Given the description of an element on the screen output the (x, y) to click on. 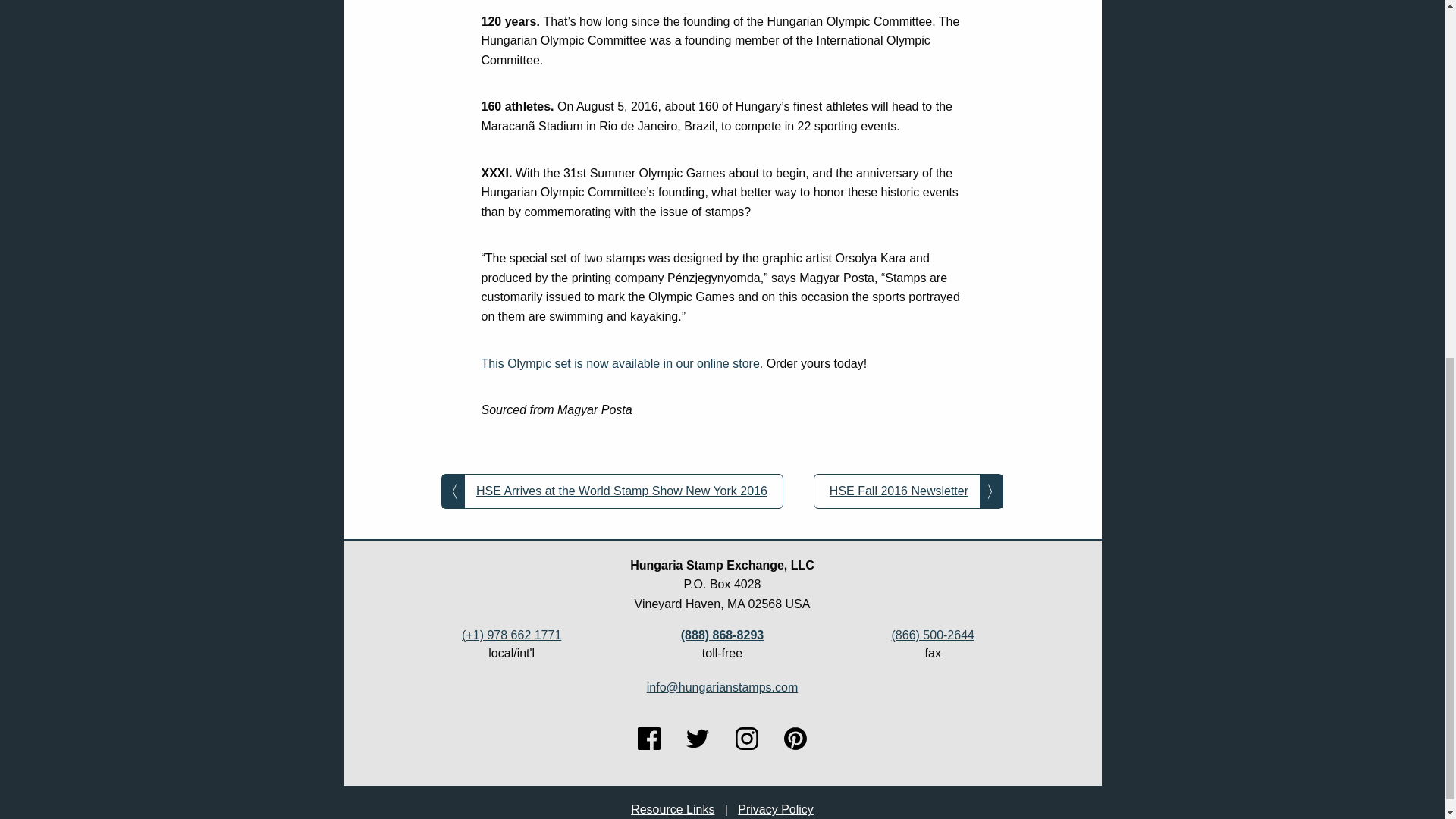
HSE Fall 2016 Newsletter (908, 491)
HSE Arrives at the World Stamp Show New York 2016 (612, 491)
Resource Links (672, 809)
Facebook icon (649, 738)
Twitter icon (697, 738)
Instagram icon (746, 738)
Pinterest icon (795, 738)
This Olympic set is now available in our online store (619, 363)
Privacy Policy (775, 809)
